Given the description of an element on the screen output the (x, y) to click on. 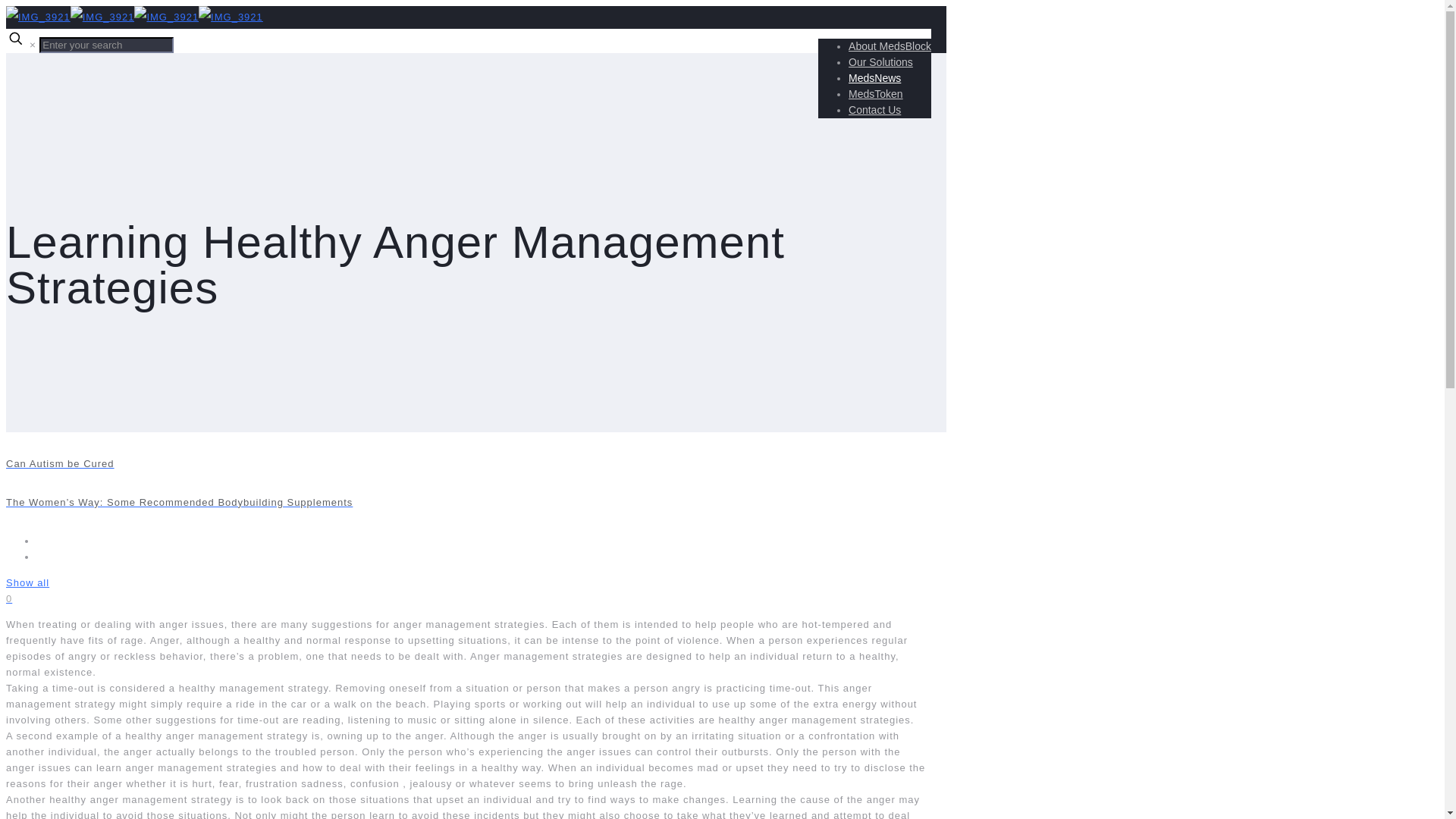
Can Autism be Cured (475, 463)
Contact Us (874, 110)
Our Solutions (880, 61)
About MedsBlock (889, 46)
MedsNews (874, 78)
Show all (27, 582)
MEDSBLOCK (134, 17)
MedsToken (875, 93)
